Given the description of an element on the screen output the (x, y) to click on. 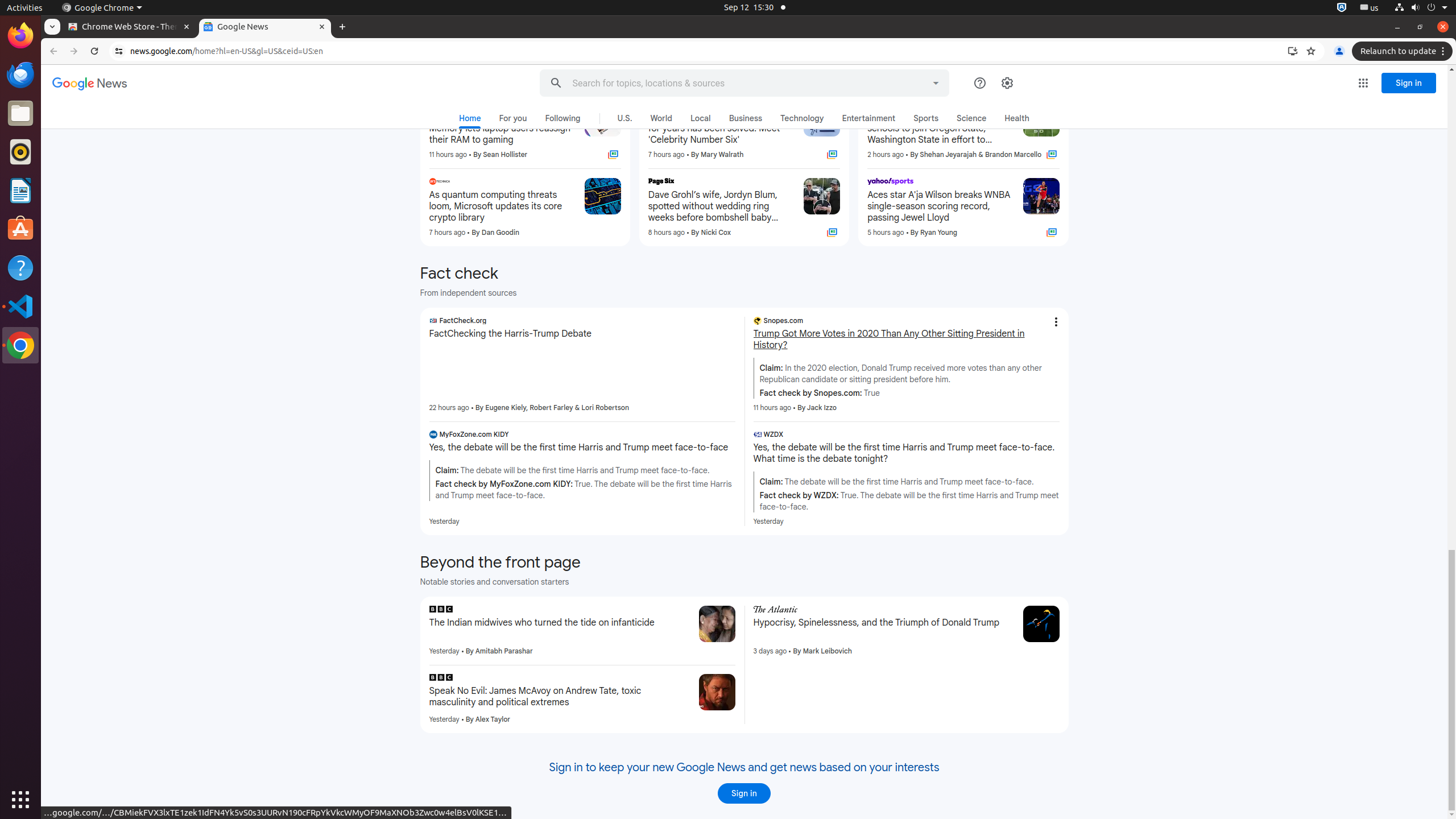
Show Applications Element type: toggle-button (20, 799)
Home Element type: menu-item (469, 120)
:1.21/StatusNotifierItem Element type: menu (1369, 7)
Trump Got More Votes in 2020 Than Any Other Sitting President in History? Element type: link (906, 339)
Google Chrome Element type: menu (101, 7)
